Given the description of an element on the screen output the (x, y) to click on. 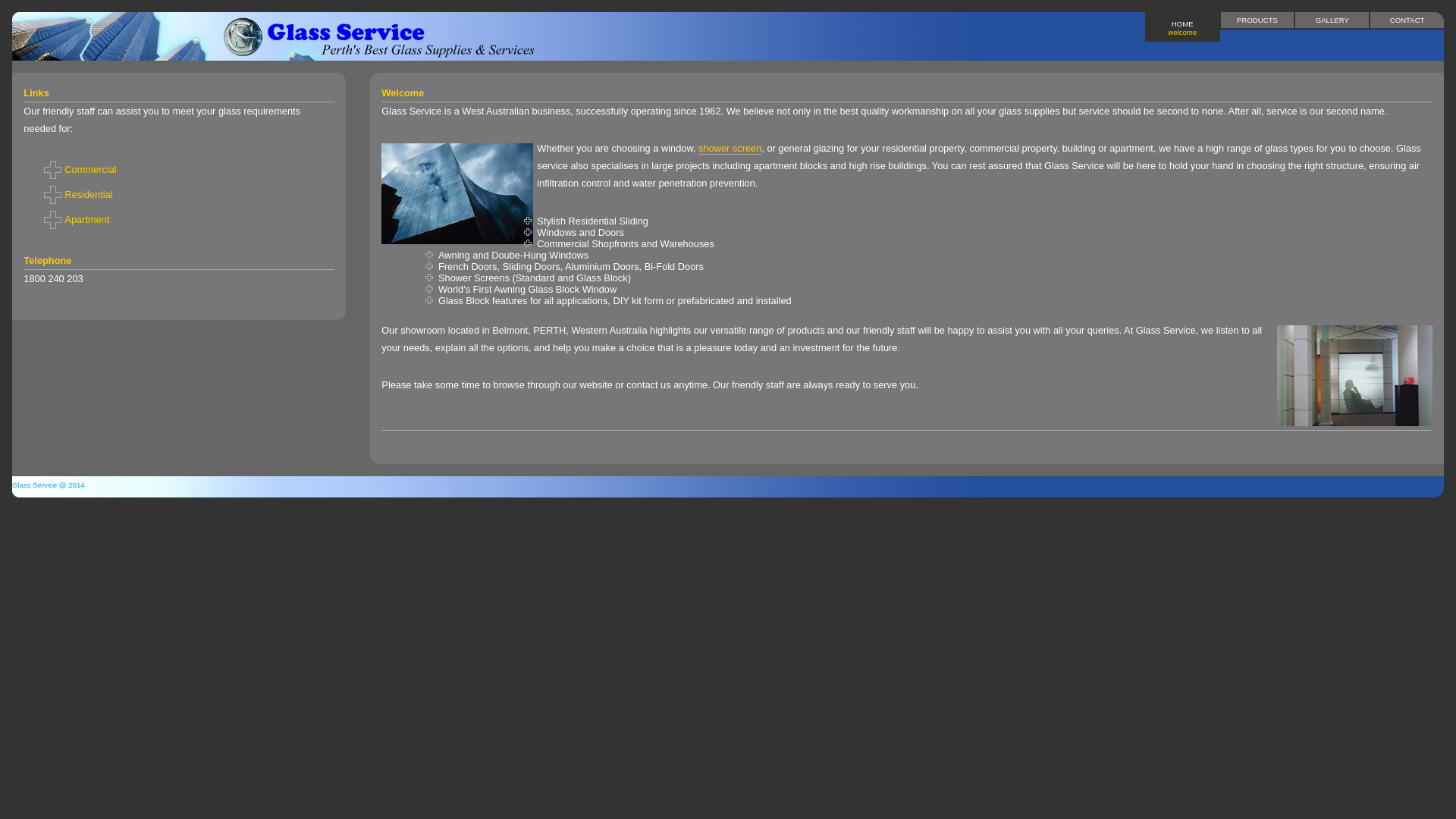
CONTACT Element type: text (1406, 20)
PRODUCTS Element type: text (1257, 20)
Residential Element type: text (178, 194)
HOME
welcome Element type: text (1182, 26)
GALLERY Element type: text (1331, 20)
Apartment Element type: text (178, 219)
Commercial Element type: text (178, 169)
shower screen Element type: text (729, 148)
